Given the description of an element on the screen output the (x, y) to click on. 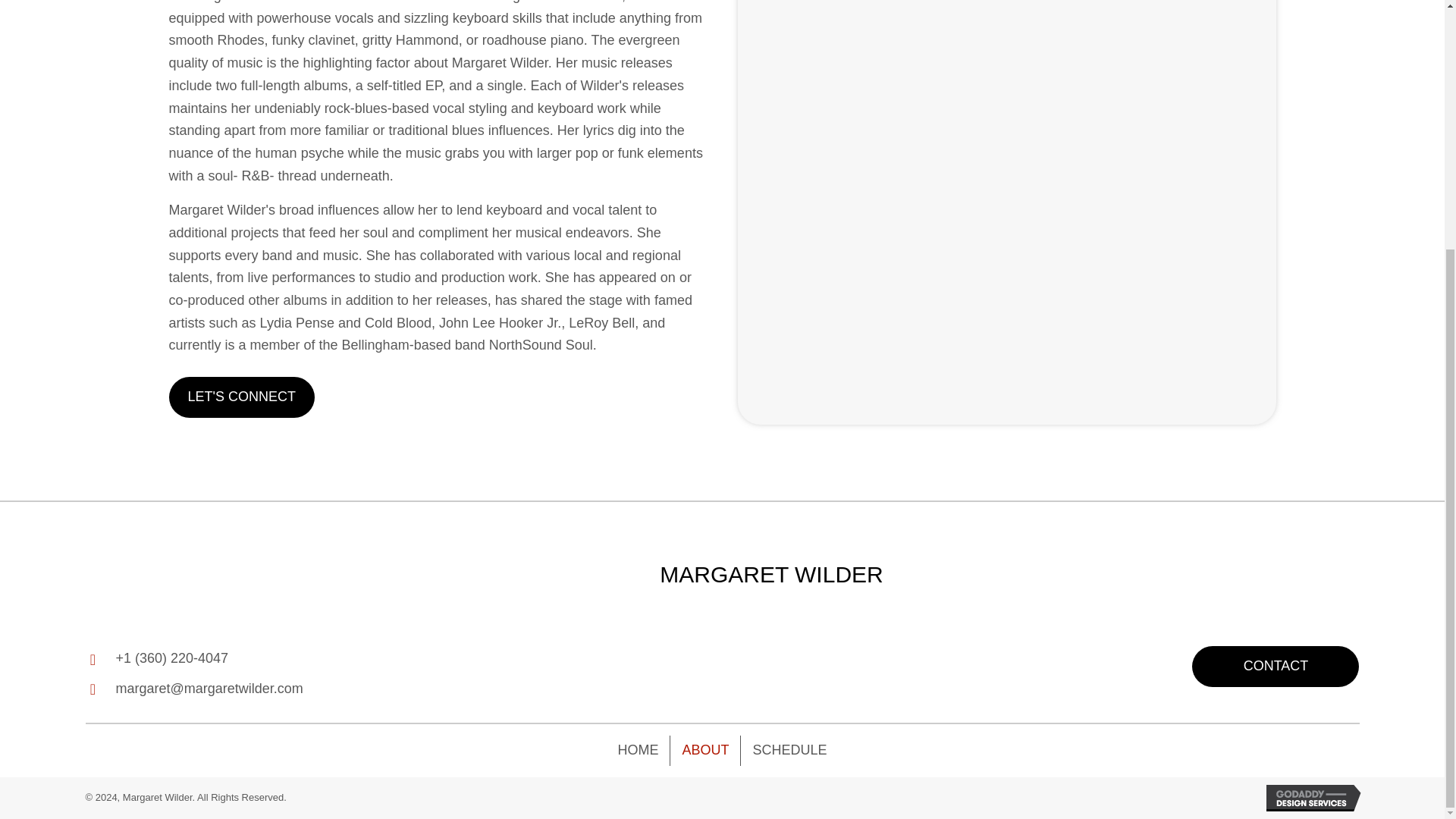
CONTACT (1275, 666)
LET'S CONNECT (241, 396)
Bandcamp (782, 670)
SCHEDULE (789, 750)
HOME (637, 750)
ABOUT (704, 750)
Facebook (740, 670)
Margaret Wilder (602, 573)
